Given the description of an element on the screen output the (x, y) to click on. 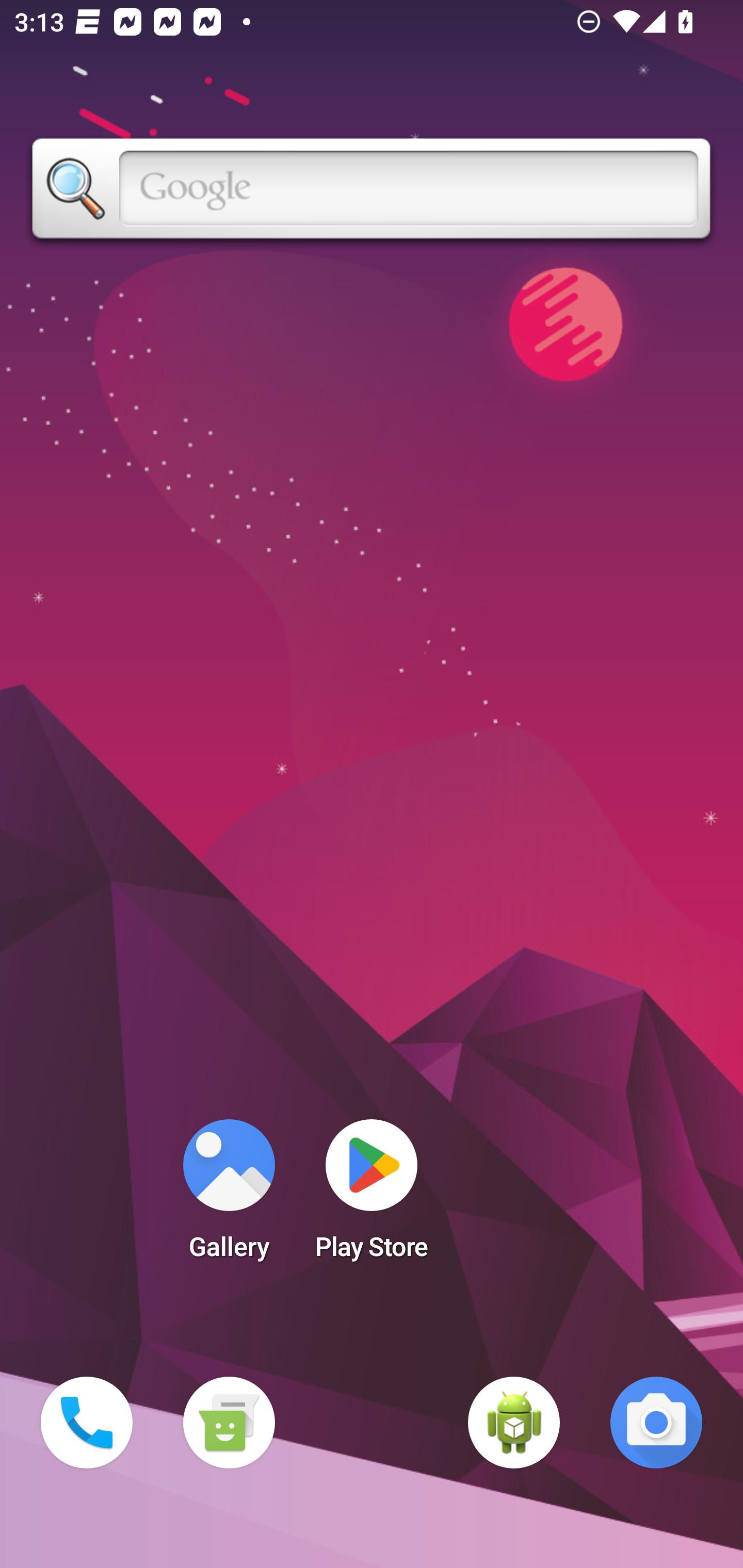
Gallery (228, 1195)
Play Store (371, 1195)
Phone (86, 1422)
Messaging (228, 1422)
WebView Browser Tester (513, 1422)
Camera (656, 1422)
